Given the description of an element on the screen output the (x, y) to click on. 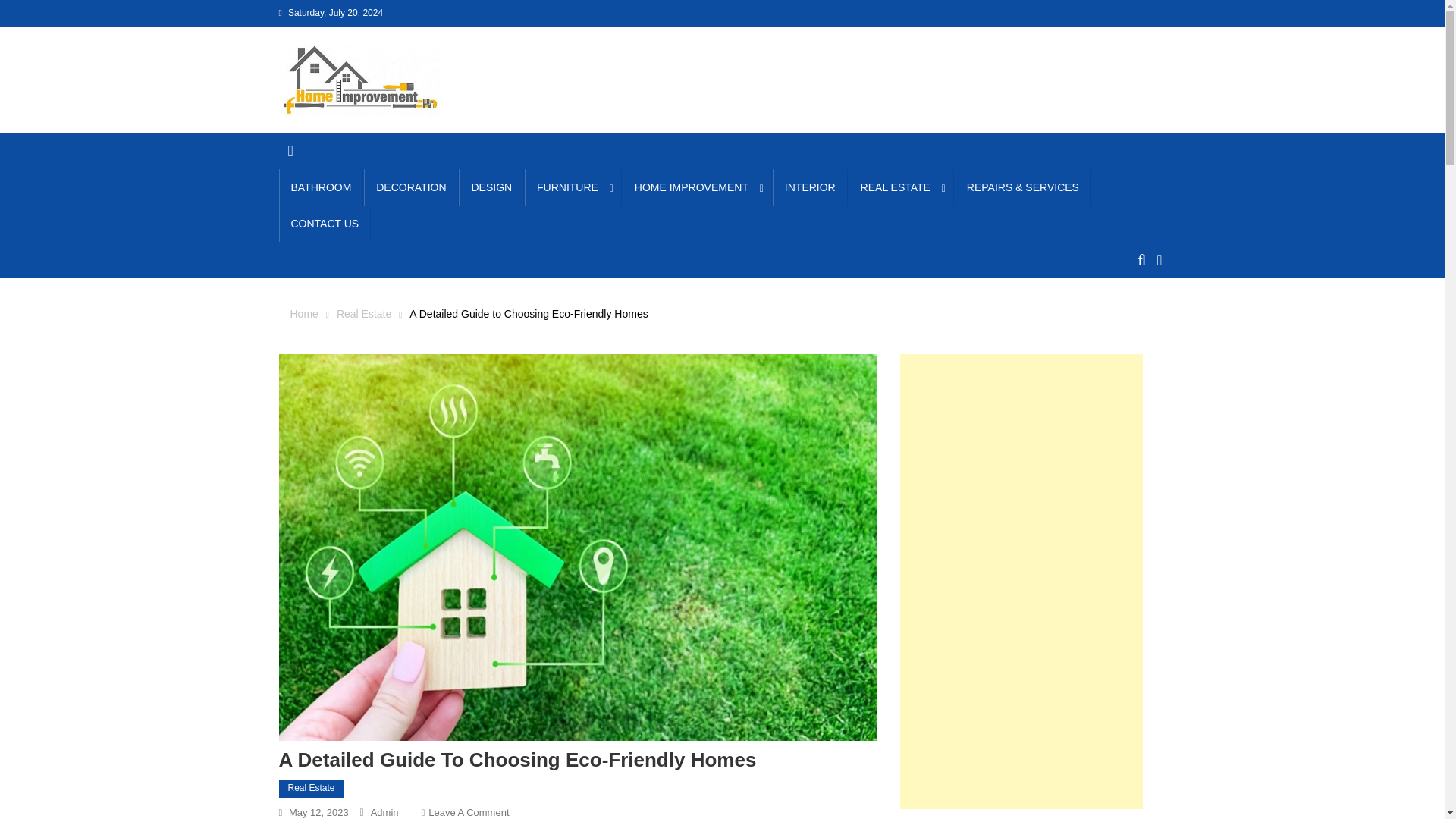
DESIGN (491, 186)
DECORATION (411, 186)
BATHROOM (321, 186)
INTERIOR (810, 186)
Admin (384, 812)
Real Estate (311, 788)
Search (1133, 316)
May 12, 2023 (318, 812)
HOME IMPROVEMENT (697, 186)
REAL ESTATE (900, 186)
Home (303, 313)
CONTACT US (325, 223)
Real Estate (363, 313)
FURNITURE (572, 186)
